Given the description of an element on the screen output the (x, y) to click on. 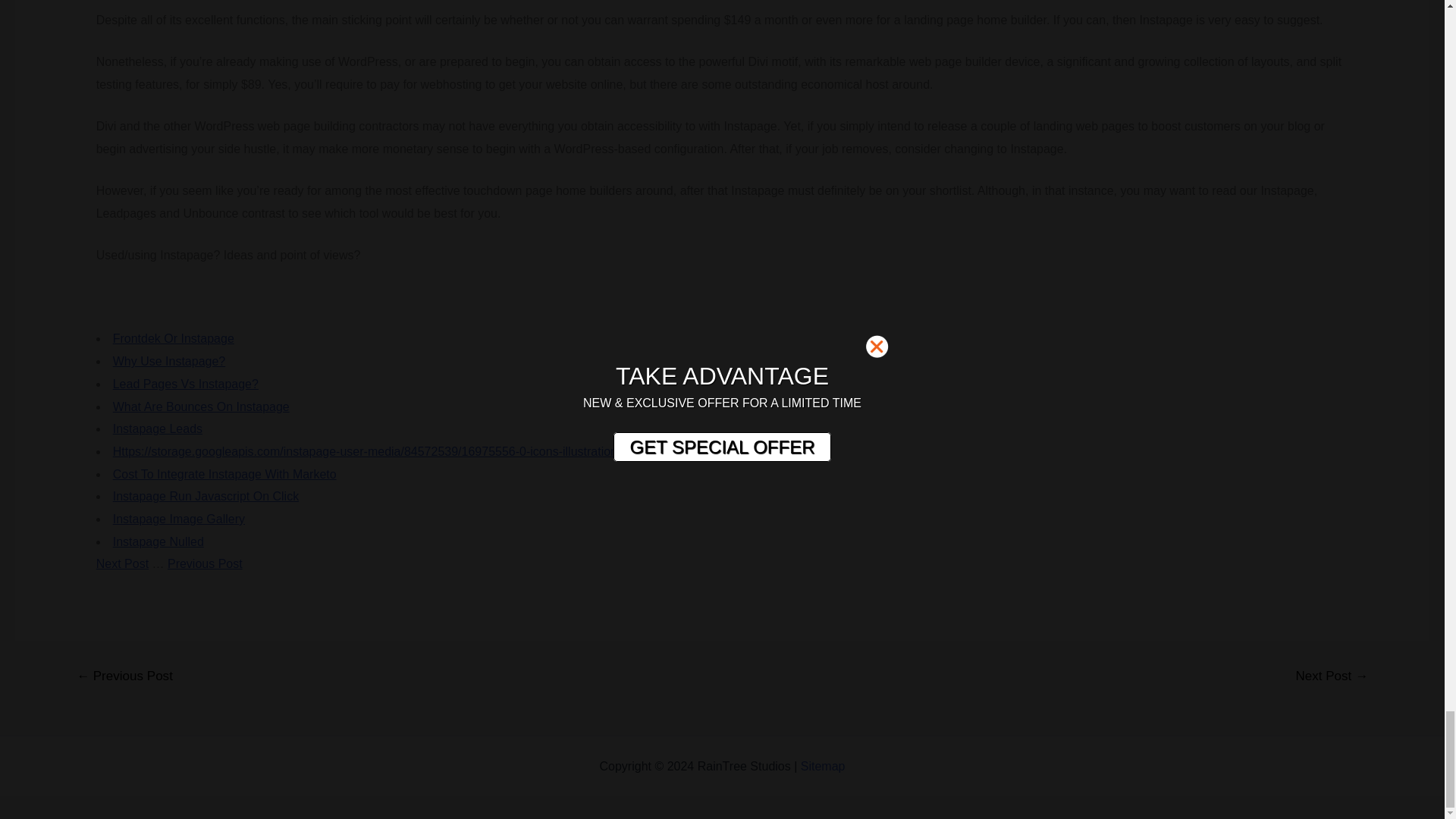
Instapage Leads (157, 428)
What Are Bounces On Instapage (201, 406)
What Are Bounces On Instapage (201, 406)
Instapage Image Gallery (178, 518)
Instapage Image Gallery (178, 518)
Instapage Run Javascript On Click (205, 495)
Instapage Nulled (158, 541)
Cost To Integrate Instapage With Marketo (224, 473)
Lead Pages Vs Instapage? (186, 383)
Next Post (122, 563)
Instapage Run Javascript On Click (205, 495)
Frontdek Or Instapage (173, 338)
Instapage Nulled (158, 541)
Instapage Leads (157, 428)
Previous Post (205, 563)
